Given the description of an element on the screen output the (x, y) to click on. 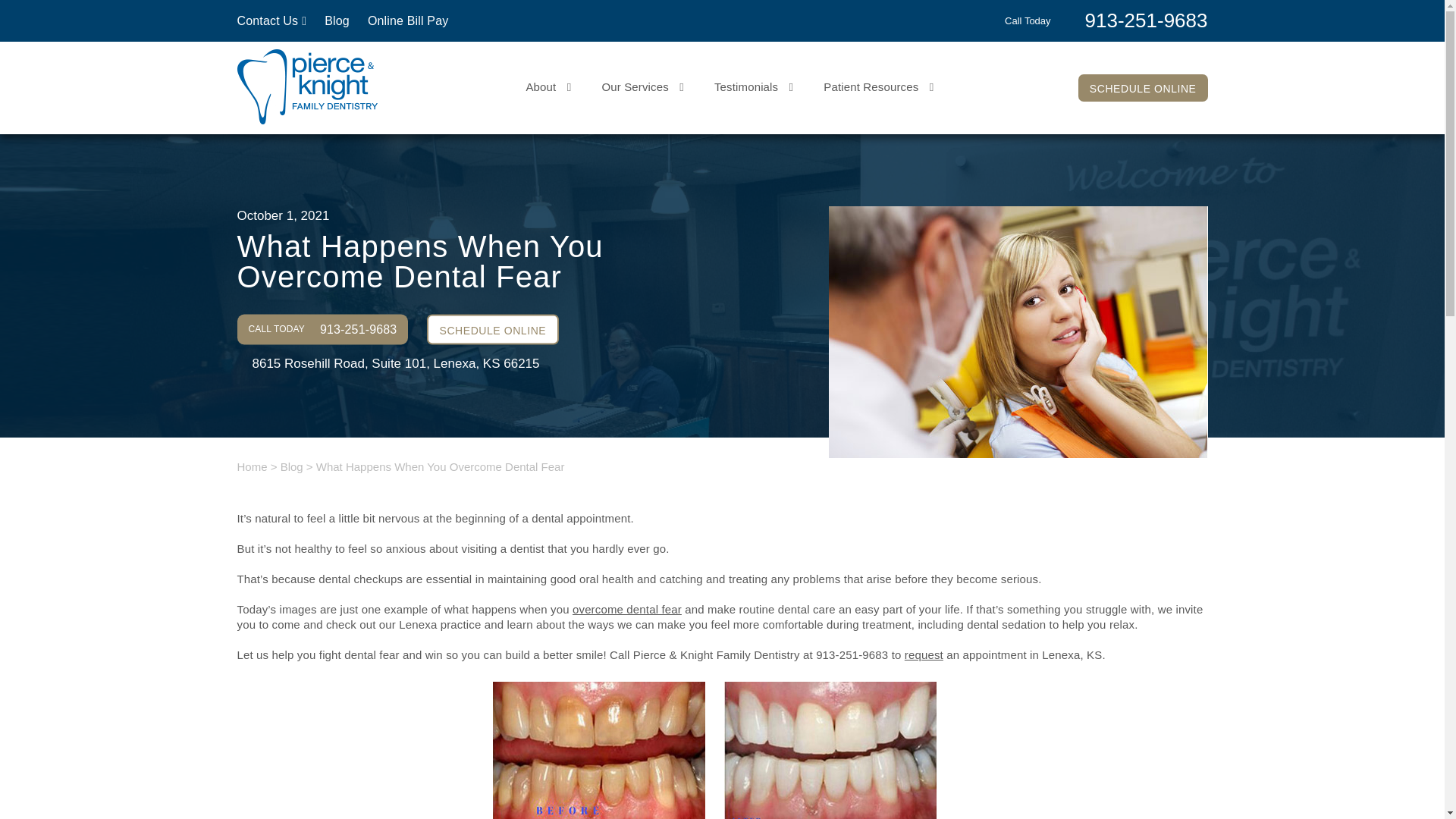
Our Services (642, 86)
Call Today913-251-9683 (1105, 19)
Blog (336, 19)
Online Bill Pay (408, 19)
Contact Us (270, 19)
